Given the description of an element on the screen output the (x, y) to click on. 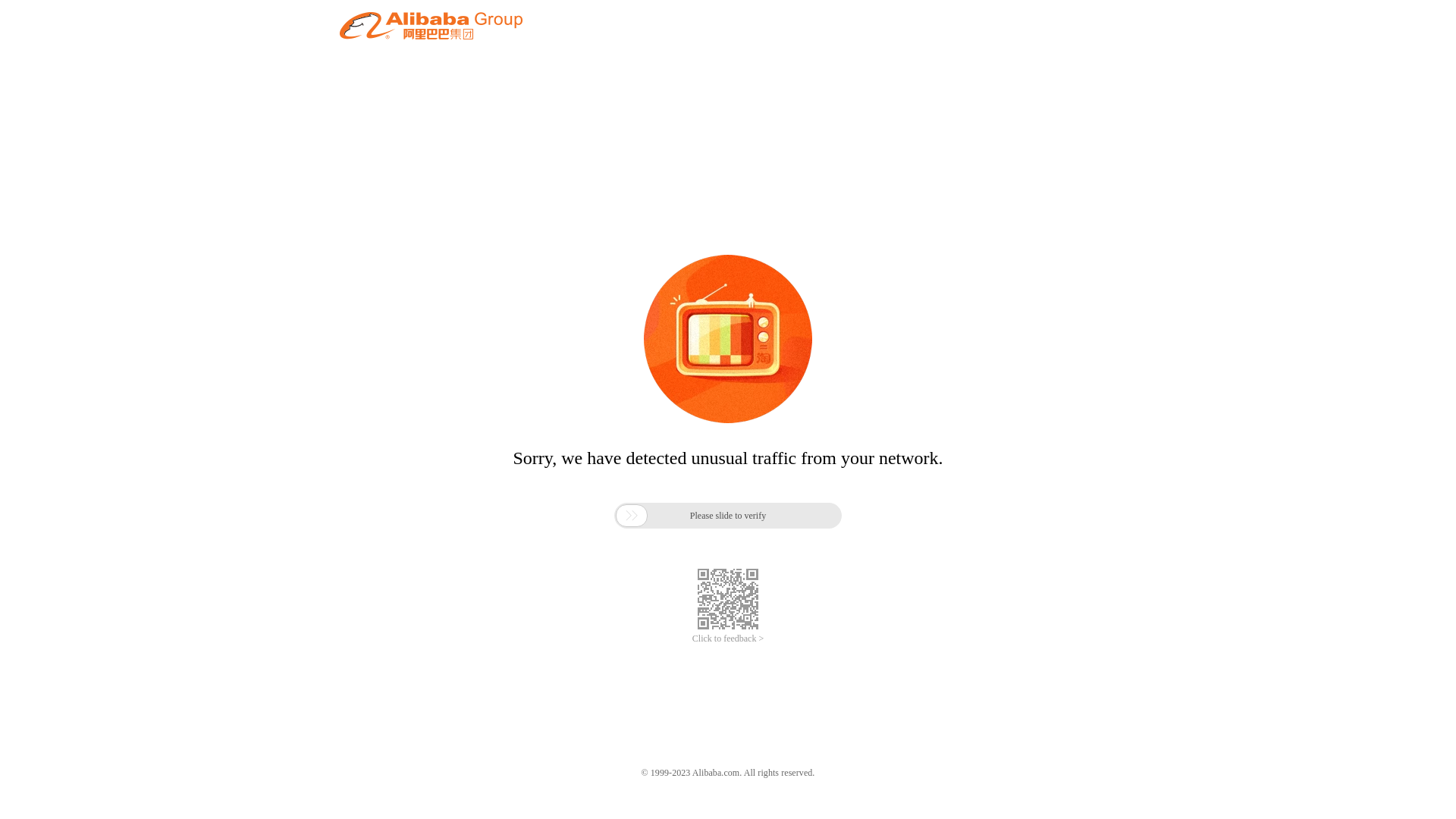
Click to feedback > Element type: text (727, 638)
